Given the description of an element on the screen output the (x, y) to click on. 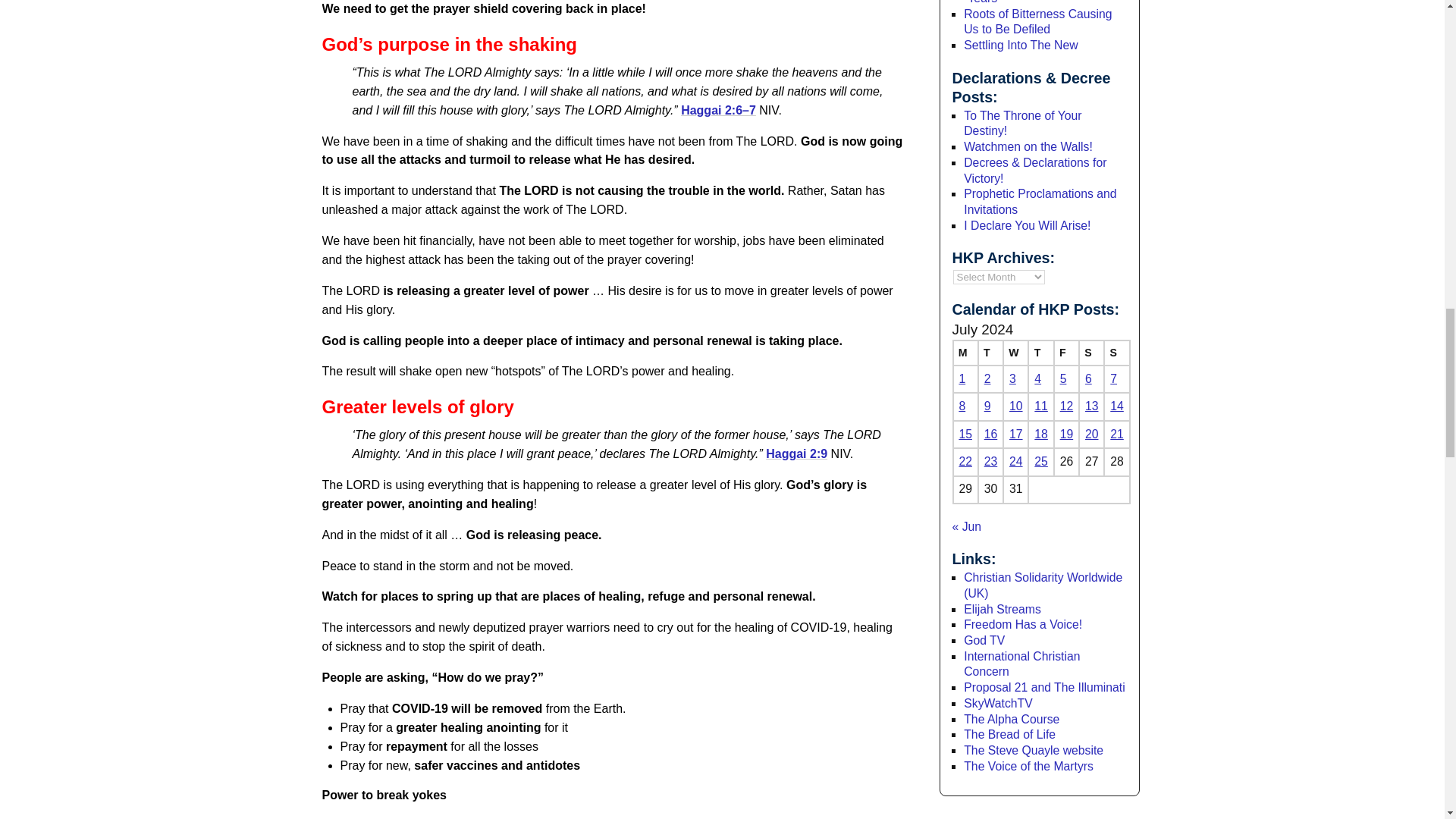
Tuesday (990, 352)
Monday (964, 352)
Thursday (1039, 352)
Wednesday (1015, 352)
